Given the description of an element on the screen output the (x, y) to click on. 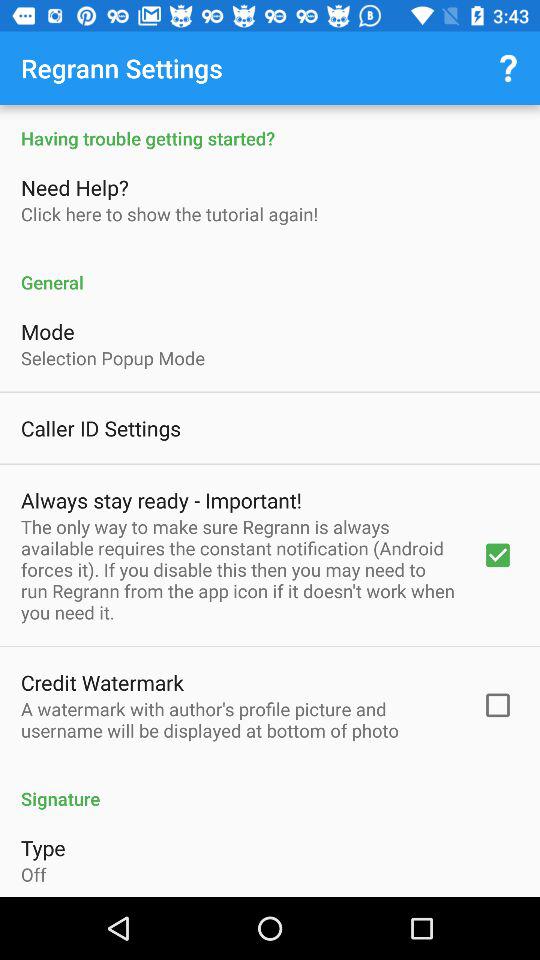
jump until the click here to item (169, 213)
